Given the description of an element on the screen output the (x, y) to click on. 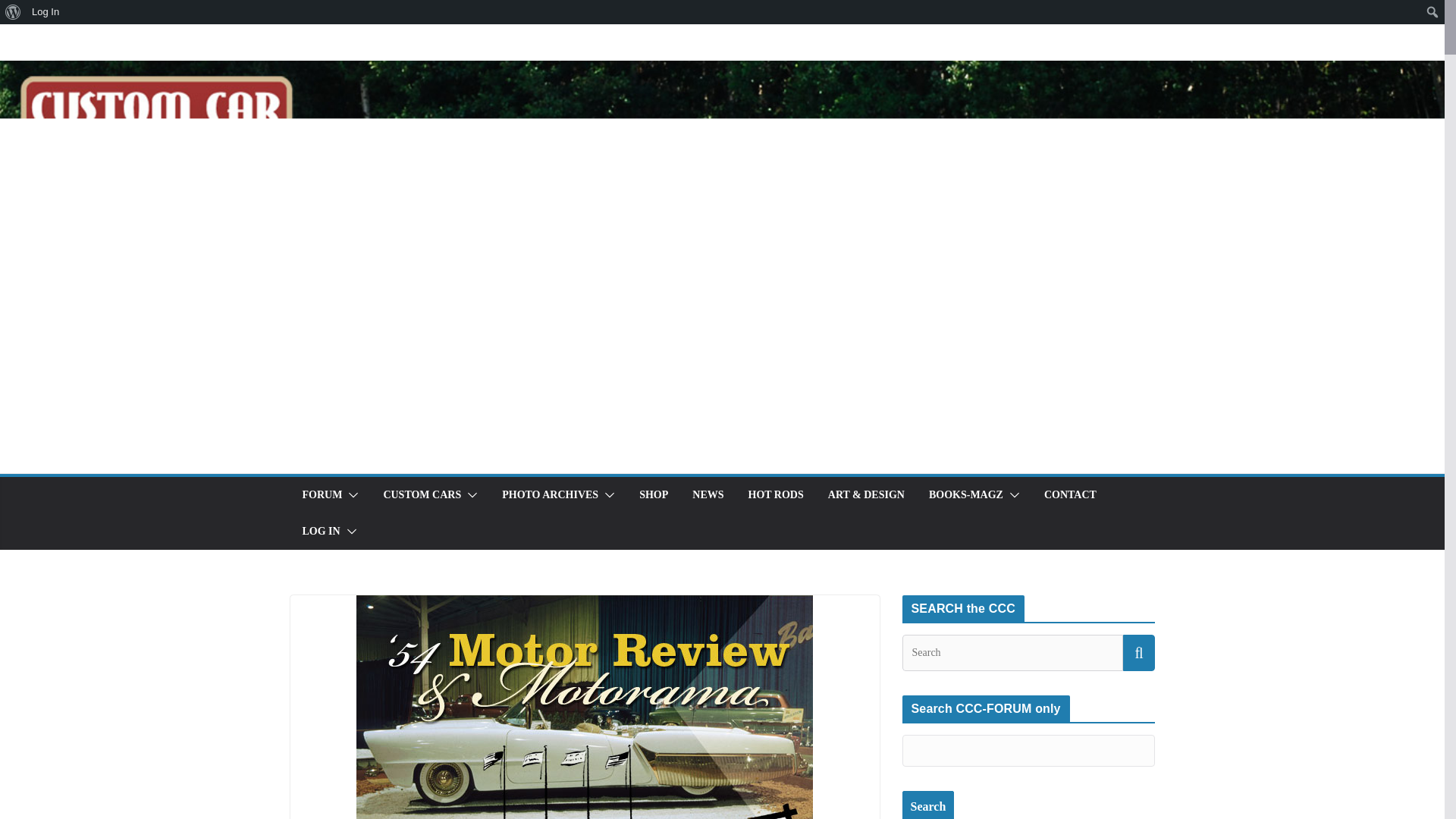
FORUM (321, 495)
Search (16, 12)
Log In (45, 12)
CUSTOM CARS (421, 495)
Search (928, 805)
